Given the description of an element on the screen output the (x, y) to click on. 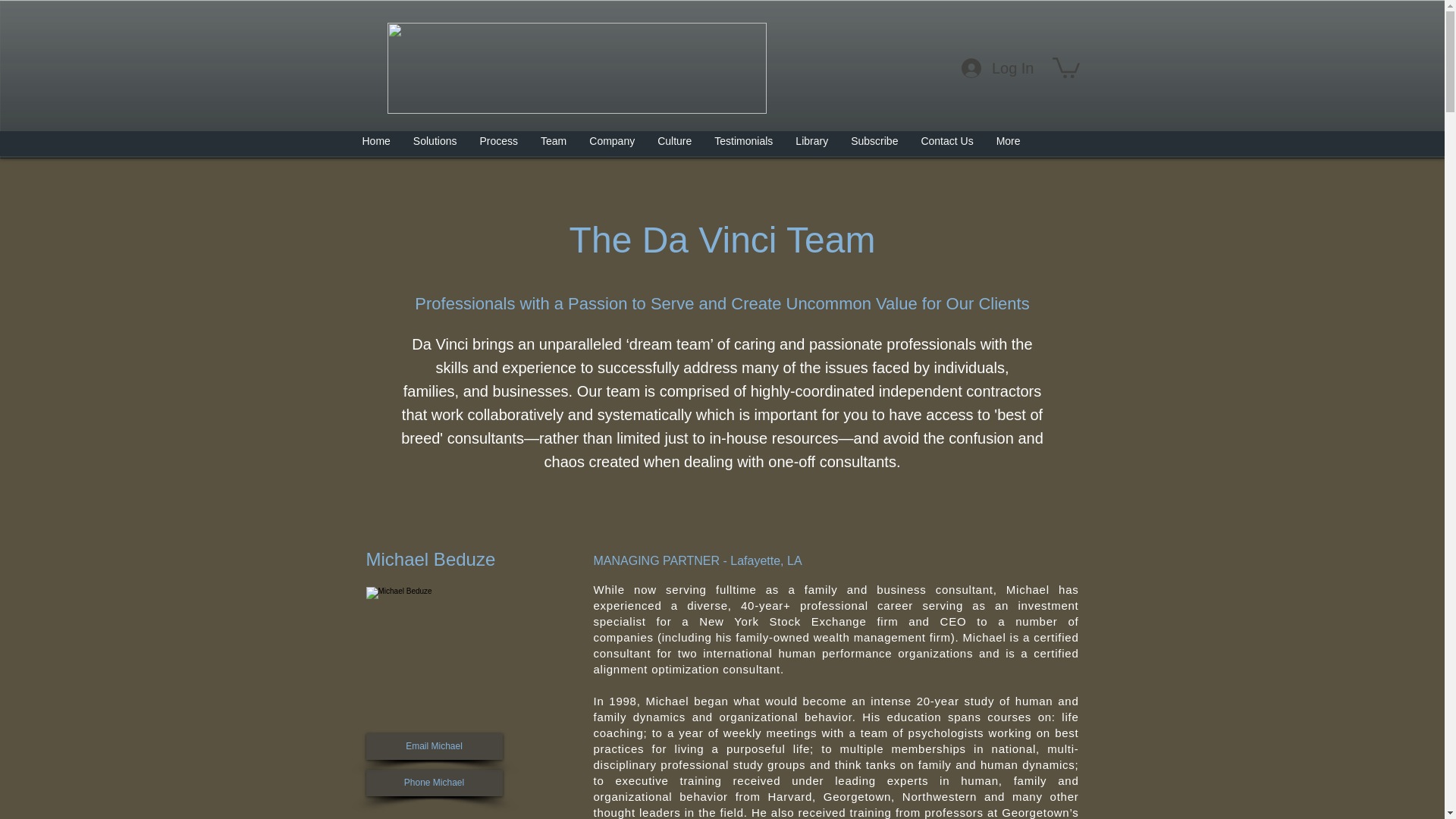
Log In (997, 67)
Culture (674, 145)
Email Michael (433, 746)
Phone Michael (433, 782)
Testimonials (743, 145)
Subscribe (874, 145)
Solutions (434, 145)
Library (812, 145)
Home (375, 145)
Process (498, 145)
Contact Us (946, 145)
Company (612, 145)
Team (553, 145)
